Given the description of an element on the screen output the (x, y) to click on. 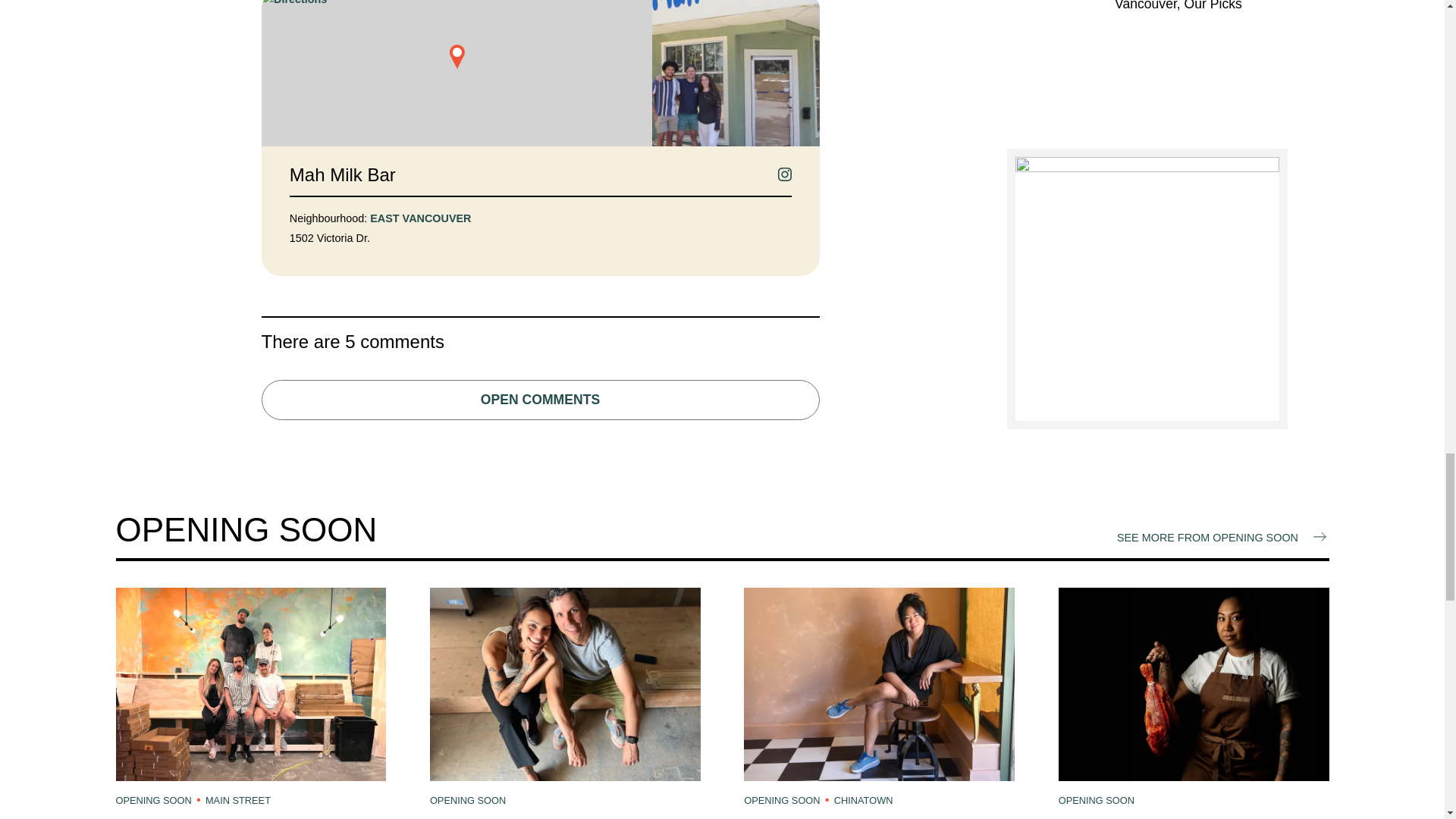
OPEN COMMENTS (539, 400)
Directions (455, 73)
EAST VANCOUVER (419, 218)
